Given the description of an element on the screen output the (x, y) to click on. 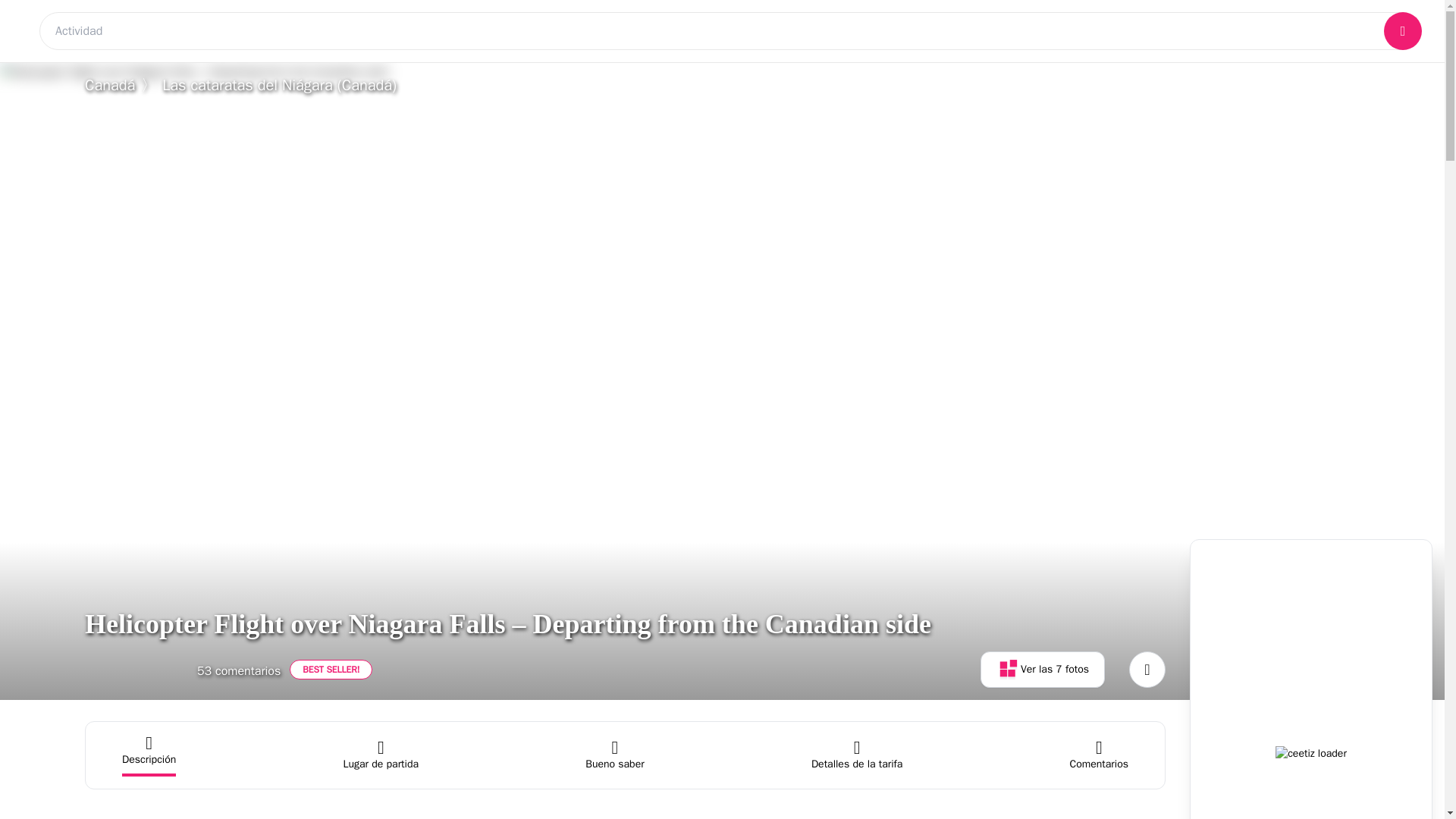
Lugar de partida (380, 755)
Comentarios (1099, 755)
Bueno saber (614, 755)
Detalles de la tarifa (856, 755)
Lugar de partida (380, 755)
Comentarios (1099, 755)
Detalles de la tarifa (856, 755)
Bueno saber (614, 755)
Ver las 7 fotos (1042, 669)
